Given the description of an element on the screen output the (x, y) to click on. 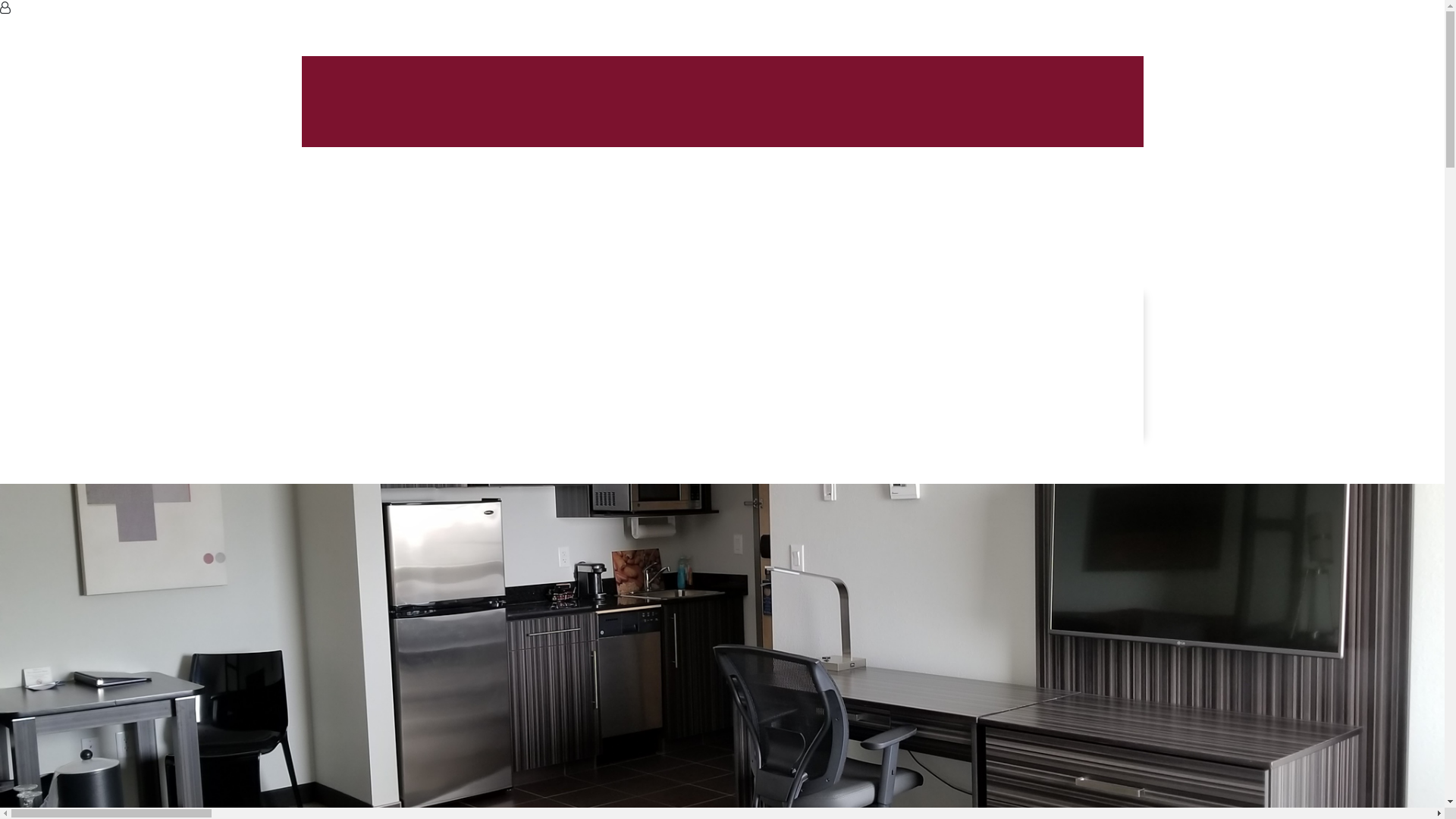
Suite -1 King Bed Element type: text (397, 407)
1 King Bed Element type: text (379, 388)
Contact Us Element type: text (391, 666)
Pet Friendly Element type: text (364, 443)
Guest Rooms Element type: text (369, 280)
BOOK NOW Element type: text (323, 666)
King Bedroom Suite Element type: text (404, 425)
1 Queen Bed Element type: text (393, 316)
1 Queen Bed Element type: text (385, 297)
Contact Element type: text (352, 461)
Welcome Element type: text (357, 243)
Breakfast Menu Element type: text (374, 261)
1 Queen Bed Element type: text (393, 334)
2 Queen Beds Element type: text (388, 352)
2 Queen Beds Element type: text (396, 370)
